Given the description of an element on the screen output the (x, y) to click on. 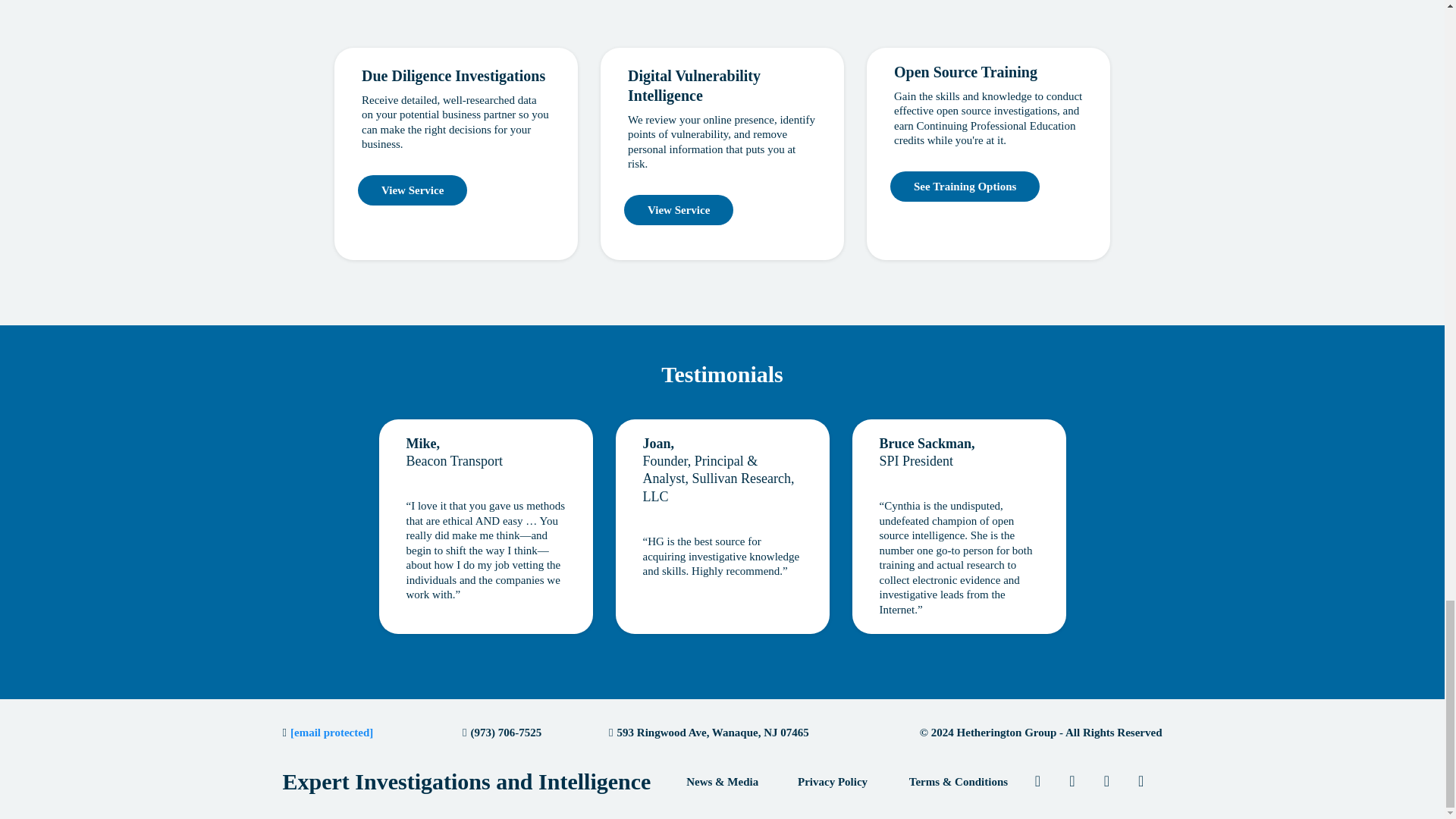
View Service (678, 209)
View Service (412, 190)
Privacy Policy (831, 781)
See Training Options (964, 186)
